Given the description of an element on the screen output the (x, y) to click on. 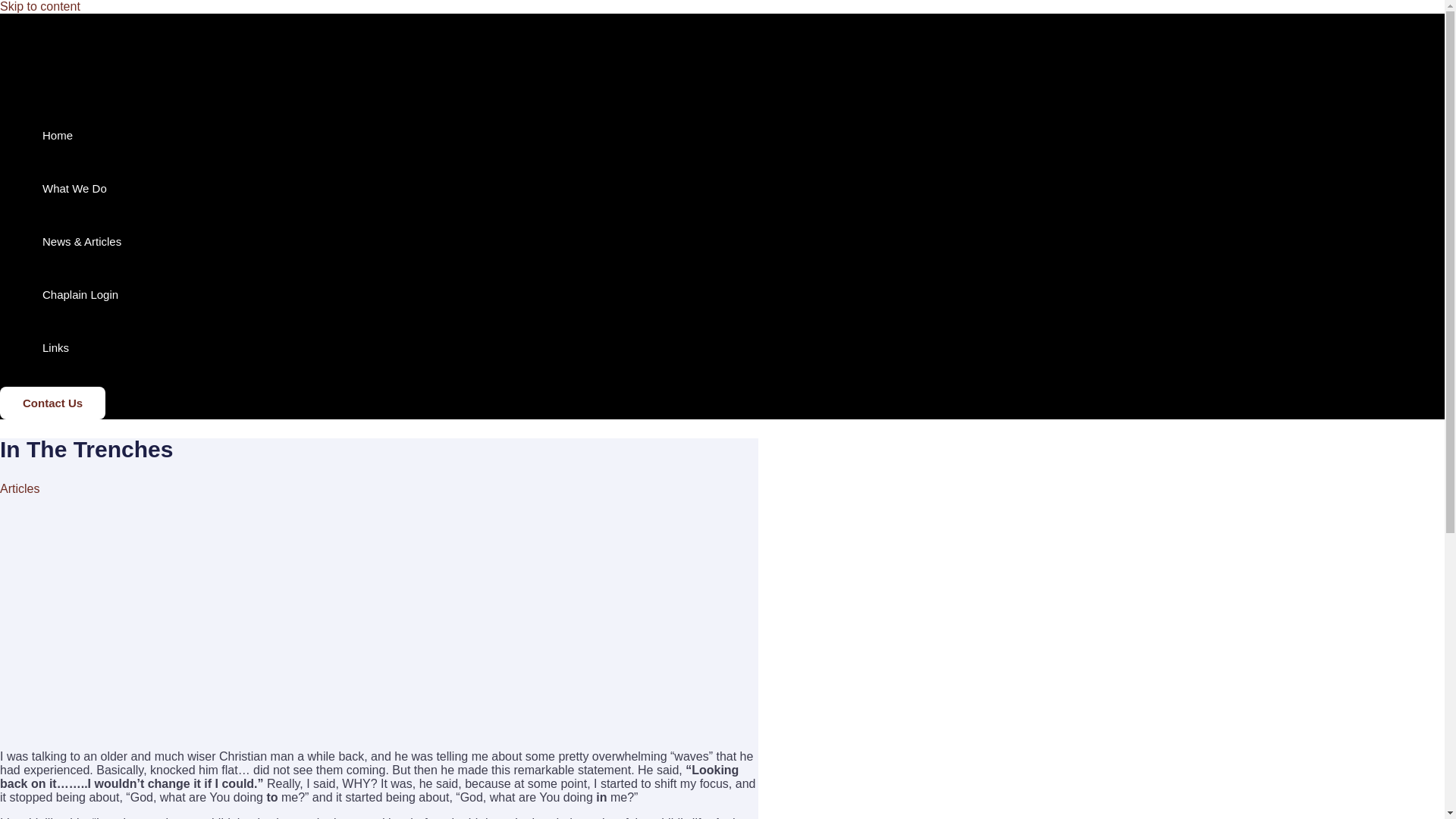
Skip to content (40, 6)
Links (81, 347)
What We Do (81, 188)
Skip to content (40, 6)
Articles (19, 488)
Contact Us (52, 402)
Home (81, 135)
Chaplain Login (81, 294)
